Given the description of an element on the screen output the (x, y) to click on. 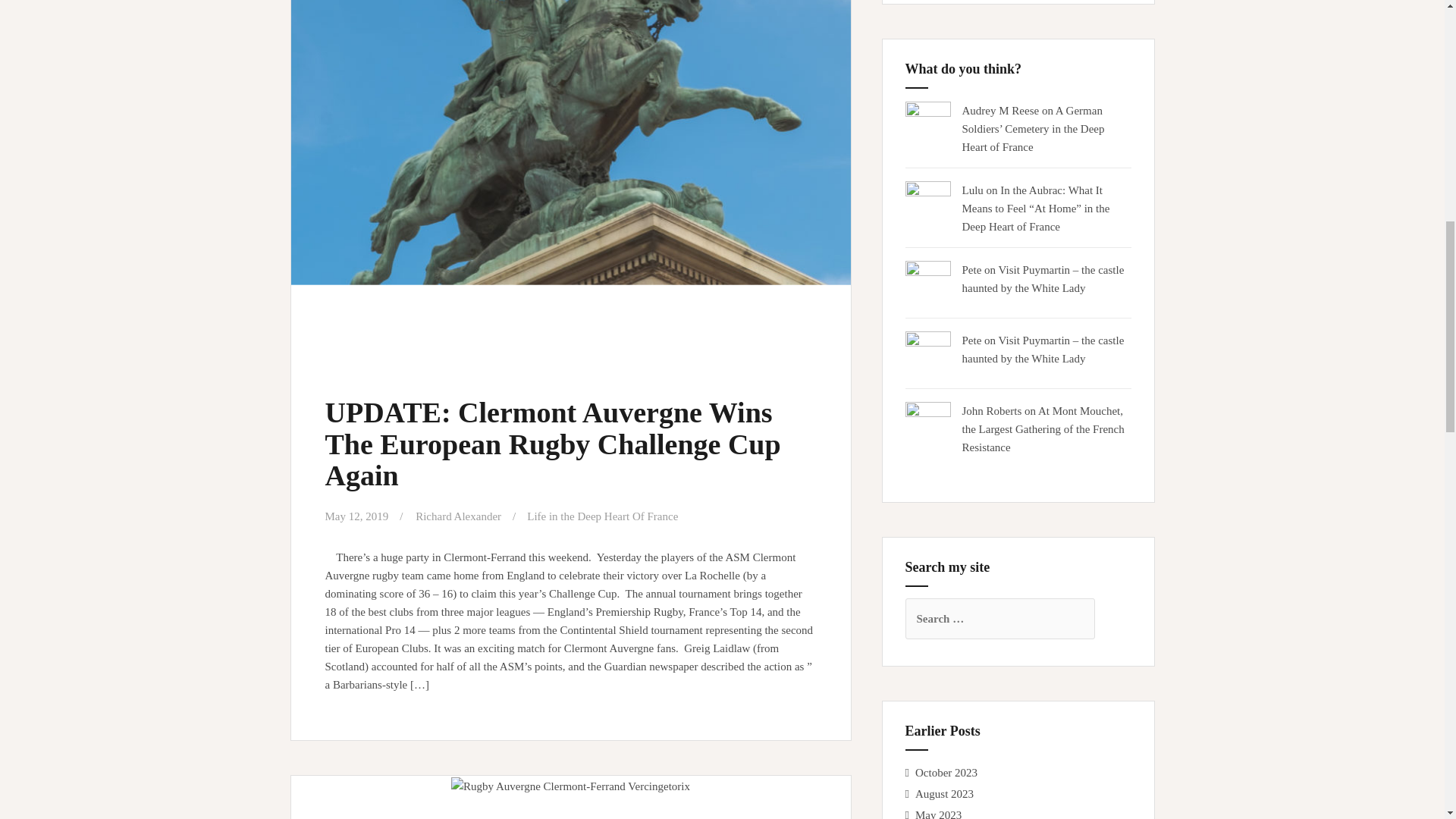
Richard Alexander (457, 516)
May 12, 2019 (356, 516)
Life in the Deep Heart Of France (602, 516)
